Given the description of an element on the screen output the (x, y) to click on. 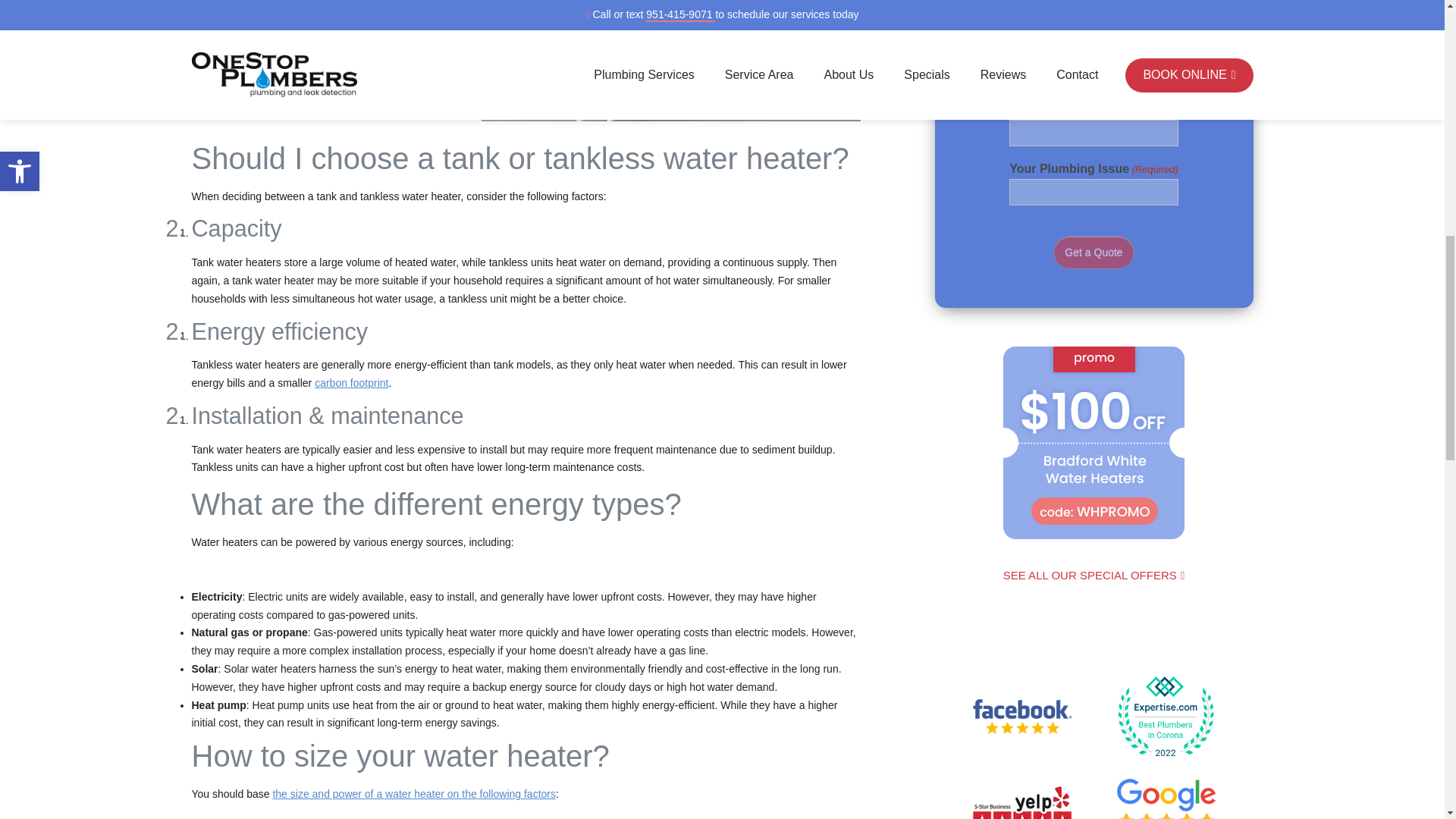
Get a Quote (1093, 252)
